Given the description of an element on the screen output the (x, y) to click on. 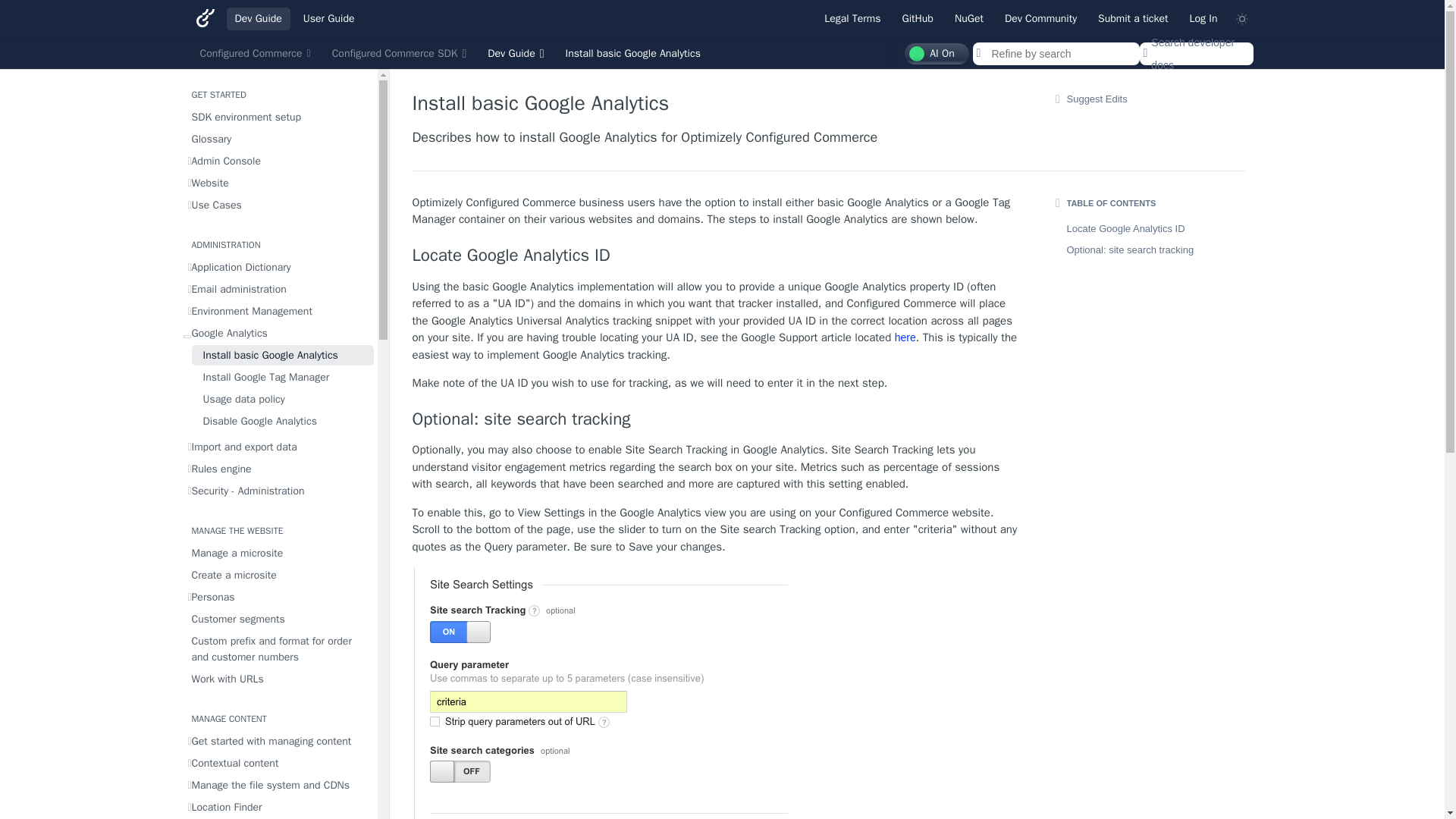
Optional: site search tracking (715, 418)
User Guide (328, 18)
Legal Terms (851, 18)
Log In (1202, 18)
Dev Guide (257, 18)
Configured Commerce SDK (399, 53)
NuGet (968, 18)
GitHub (917, 18)
SDK environment setup (277, 117)
Submit a ticket (1132, 18)
Locate Google Analytics ID (715, 255)
Dev Guide (515, 53)
Dev Community (1039, 18)
Search developer docs (1195, 53)
Glossary (277, 138)
